Given the description of an element on the screen output the (x, y) to click on. 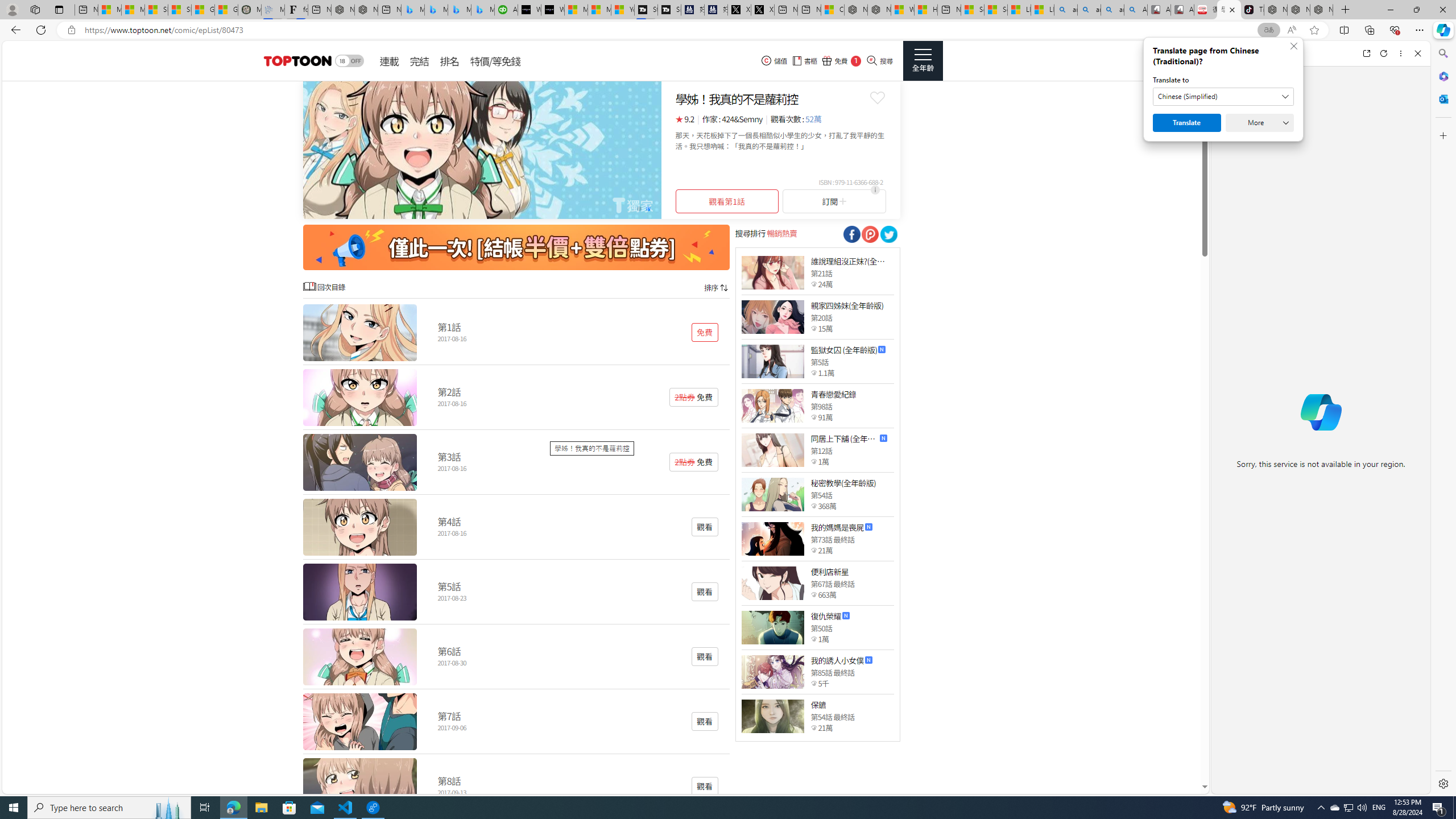
amazon - Search Images (1112, 9)
